Given the description of an element on the screen output the (x, y) to click on. 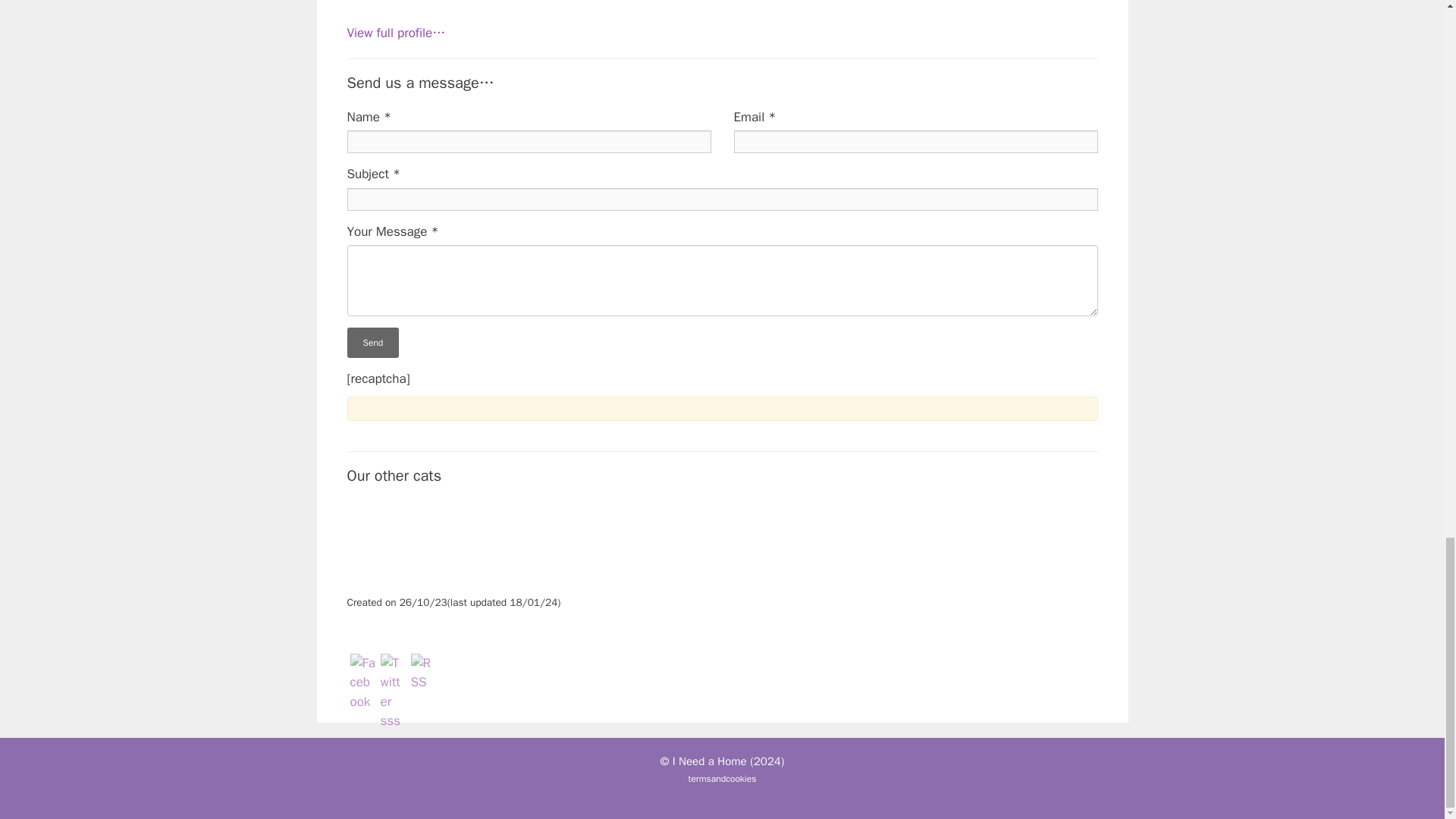
Send (372, 342)
Send (372, 342)
